Given the description of an element on the screen output the (x, y) to click on. 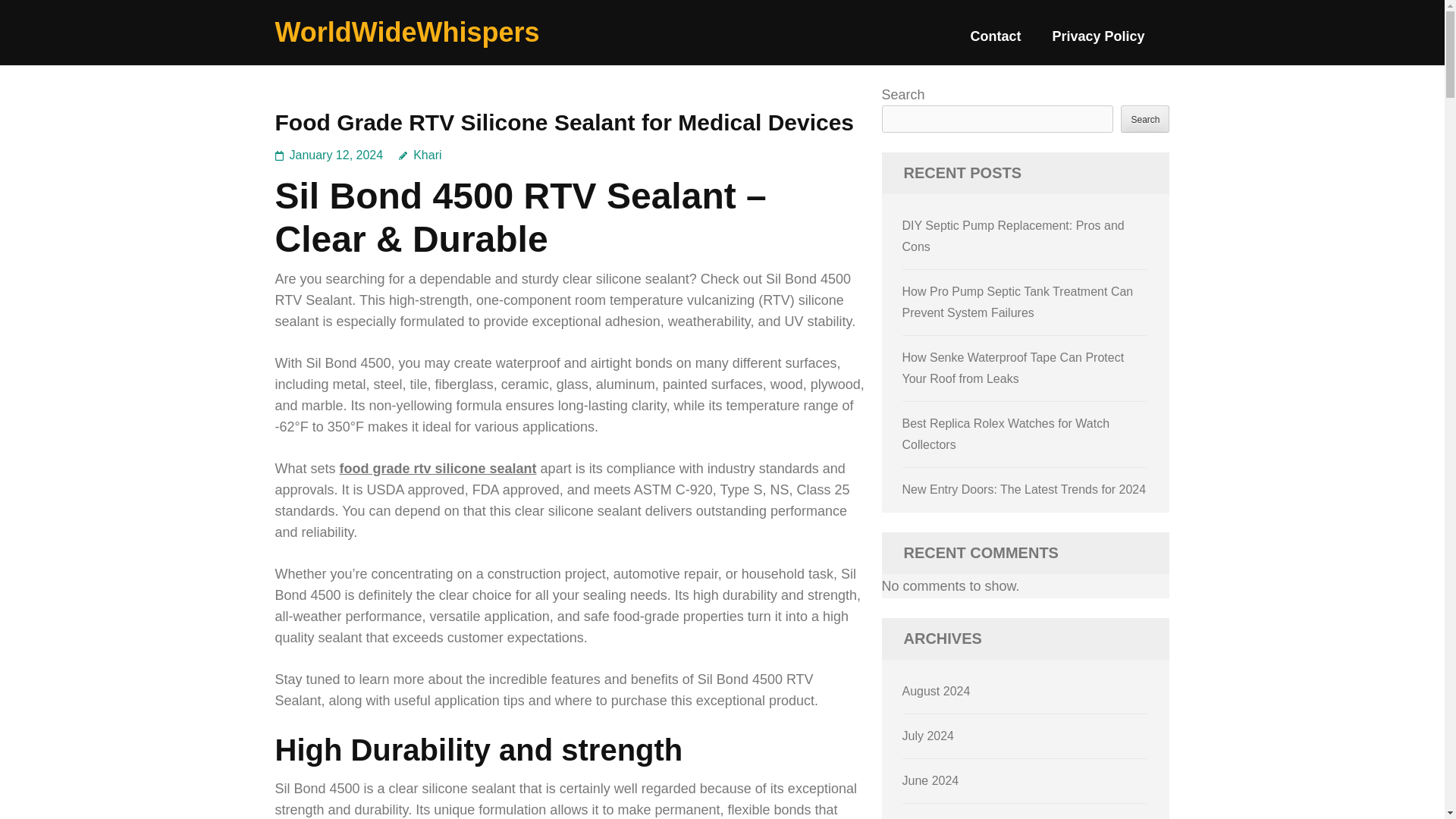
New Entry Doors: The Latest Trends for 2024 (1024, 489)
WorldWideWhispers (406, 31)
July 2024 (928, 735)
June 2024 (930, 780)
August 2024 (936, 690)
DIY Septic Pump Replacement: Pros and Cons (1013, 236)
How Senke Waterproof Tape Can Protect Your Roof from Leaks (1013, 367)
Privacy Policy (1097, 42)
food grade rtv silicone sealant (438, 468)
